Given the description of an element on the screen output the (x, y) to click on. 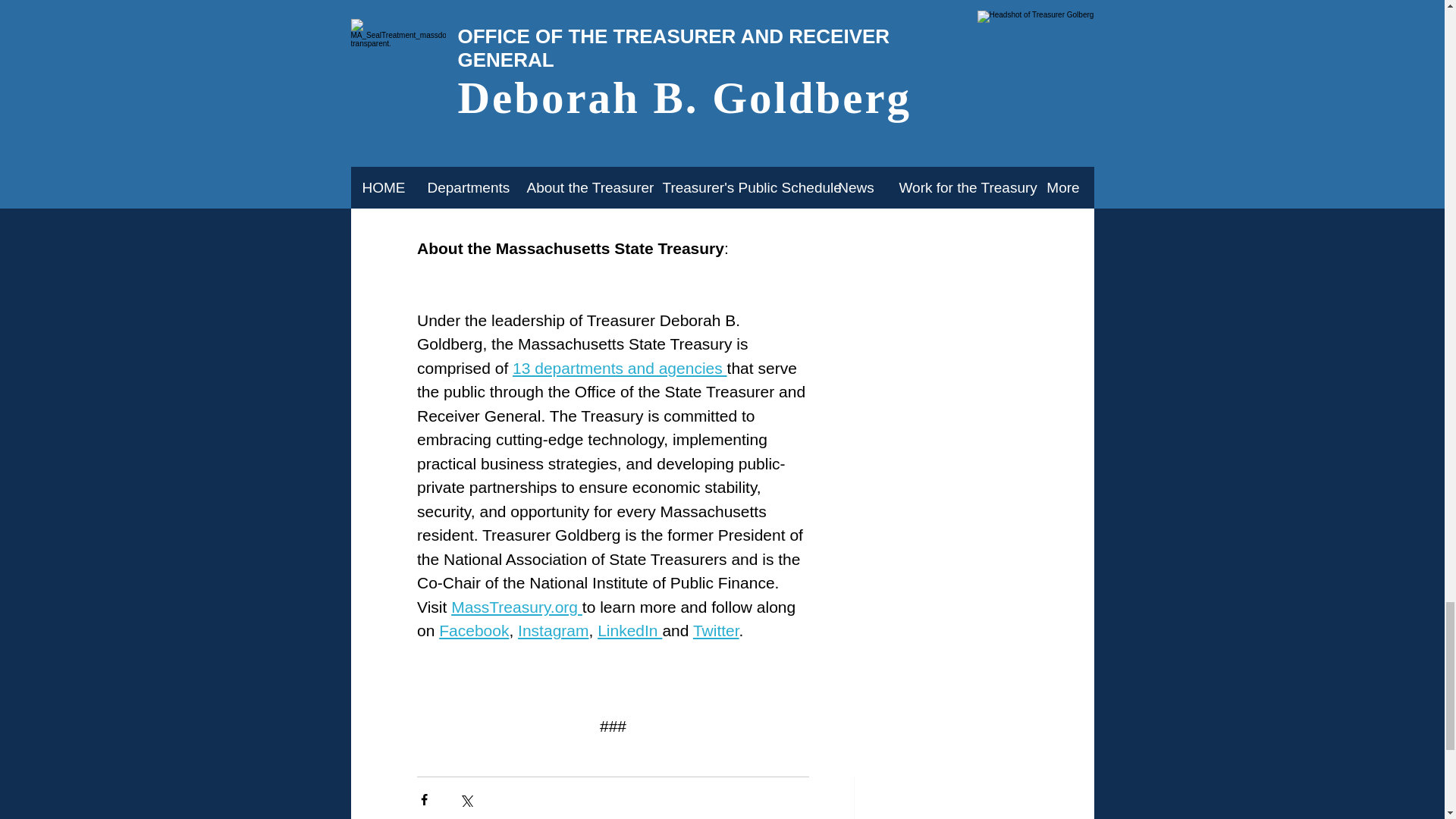
MassTreasury.org  (516, 606)
Facebook (473, 630)
Cannabis Advisory Board (604, 45)
13 departments and agencies  (619, 367)
Instagram (553, 630)
Twitter (715, 630)
LinkedIn  (629, 630)
